Given the description of an element on the screen output the (x, y) to click on. 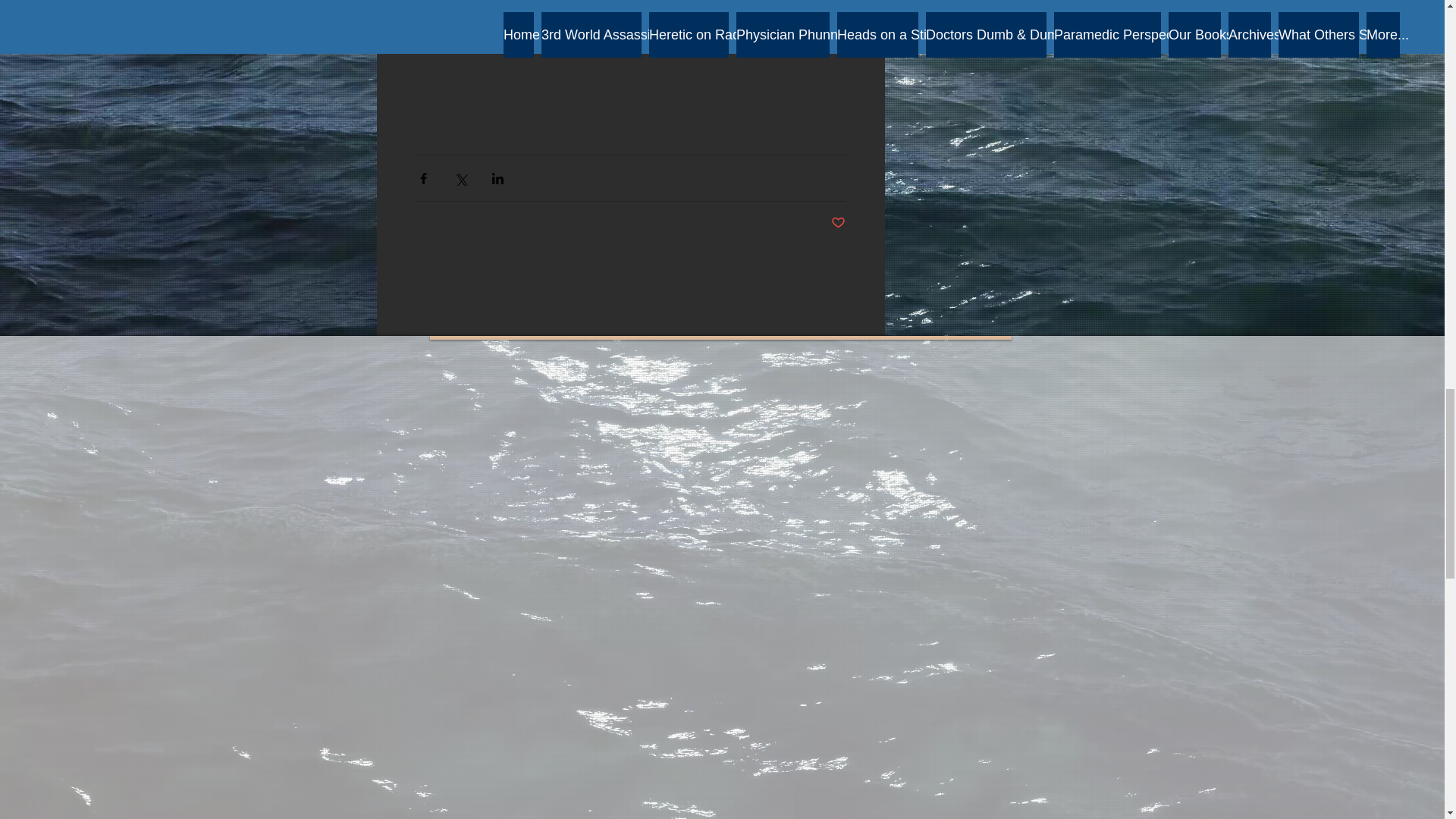
Post not marked as liked (838, 222)
